Given the description of an element on the screen output the (x, y) to click on. 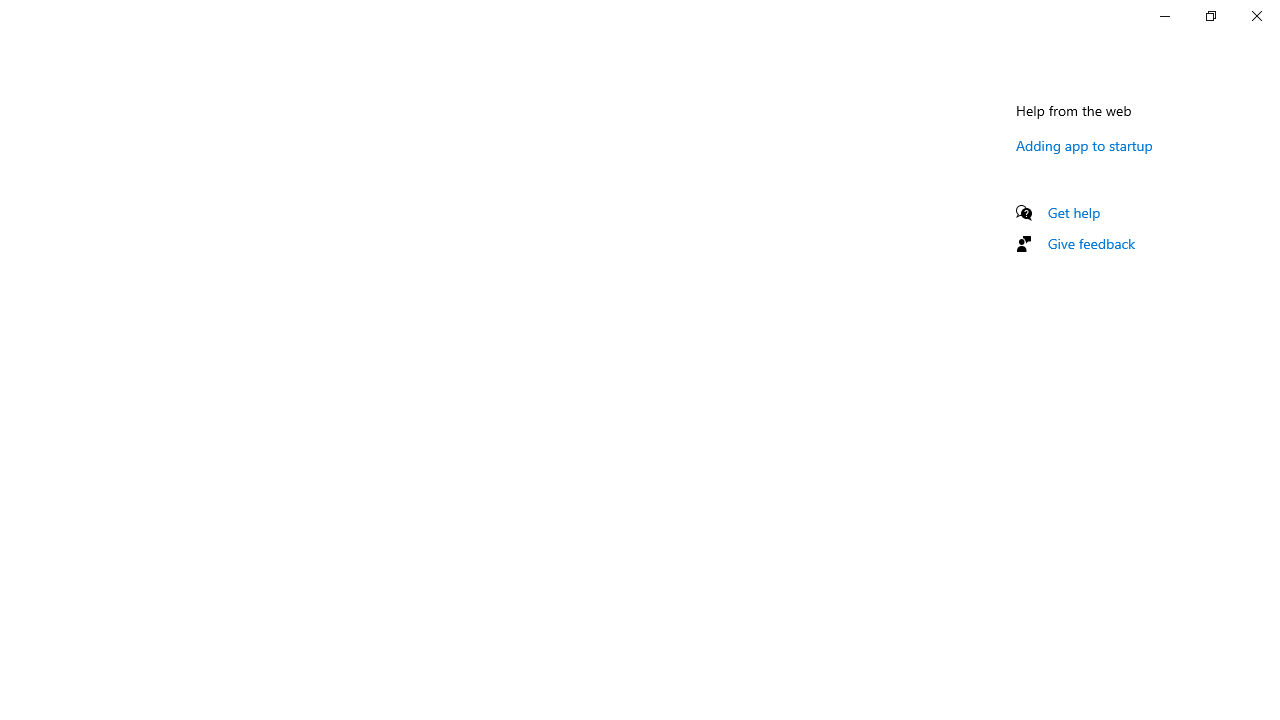
Give feedback (1091, 243)
Get help (1074, 212)
Adding app to startup (1084, 145)
